Given the description of an element on the screen output the (x, y) to click on. 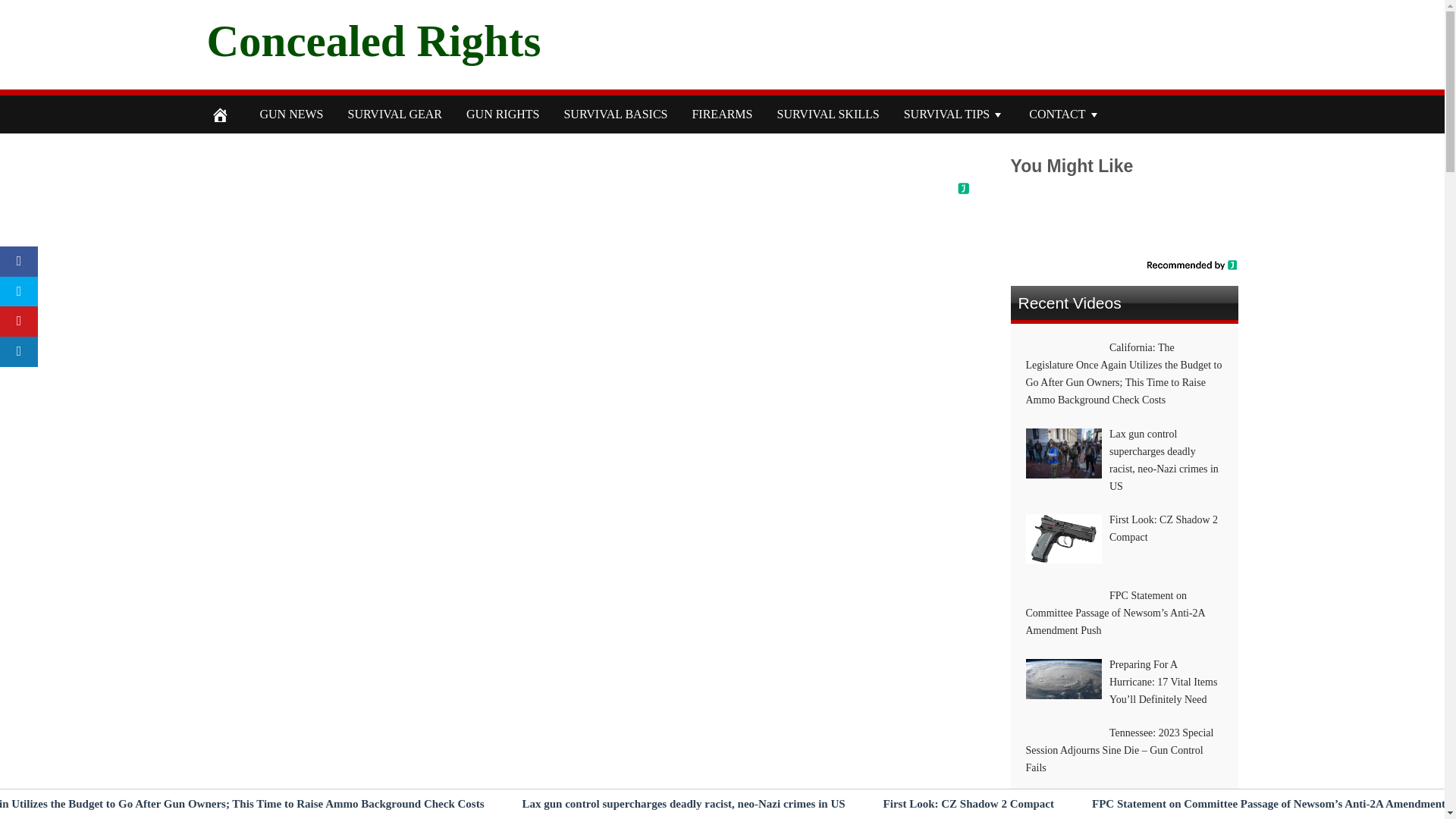
First Look: CZ Shadow 2 Compact (968, 803)
